Given the description of an element on the screen output the (x, y) to click on. 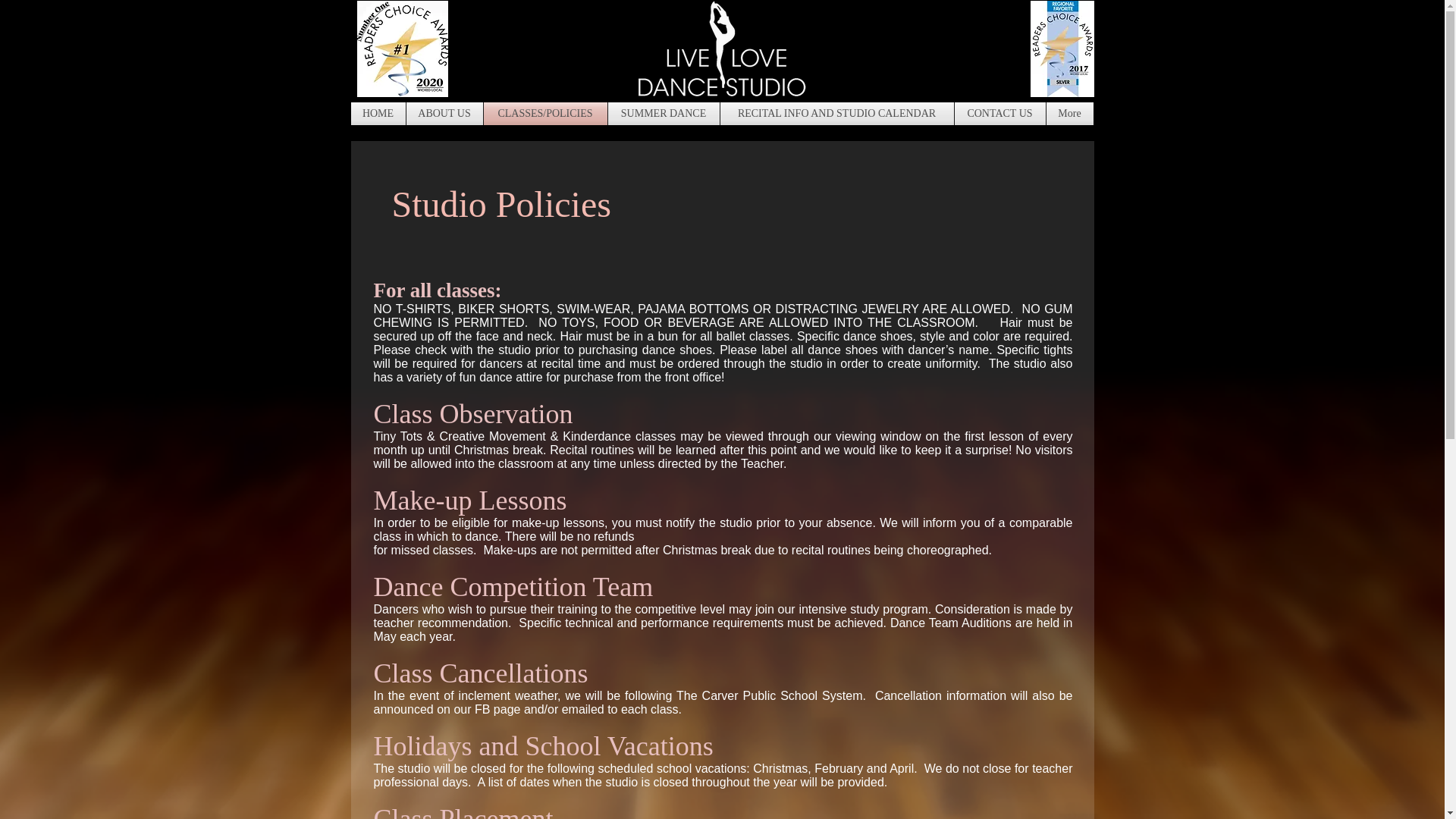
ABOUT US (444, 113)
CONTACT US (999, 113)
RECITAL INFO AND STUDIO CALENDAR (836, 113)
SUMMER DANCE (663, 113)
HOME (377, 113)
